Given the description of an element on the screen output the (x, y) to click on. 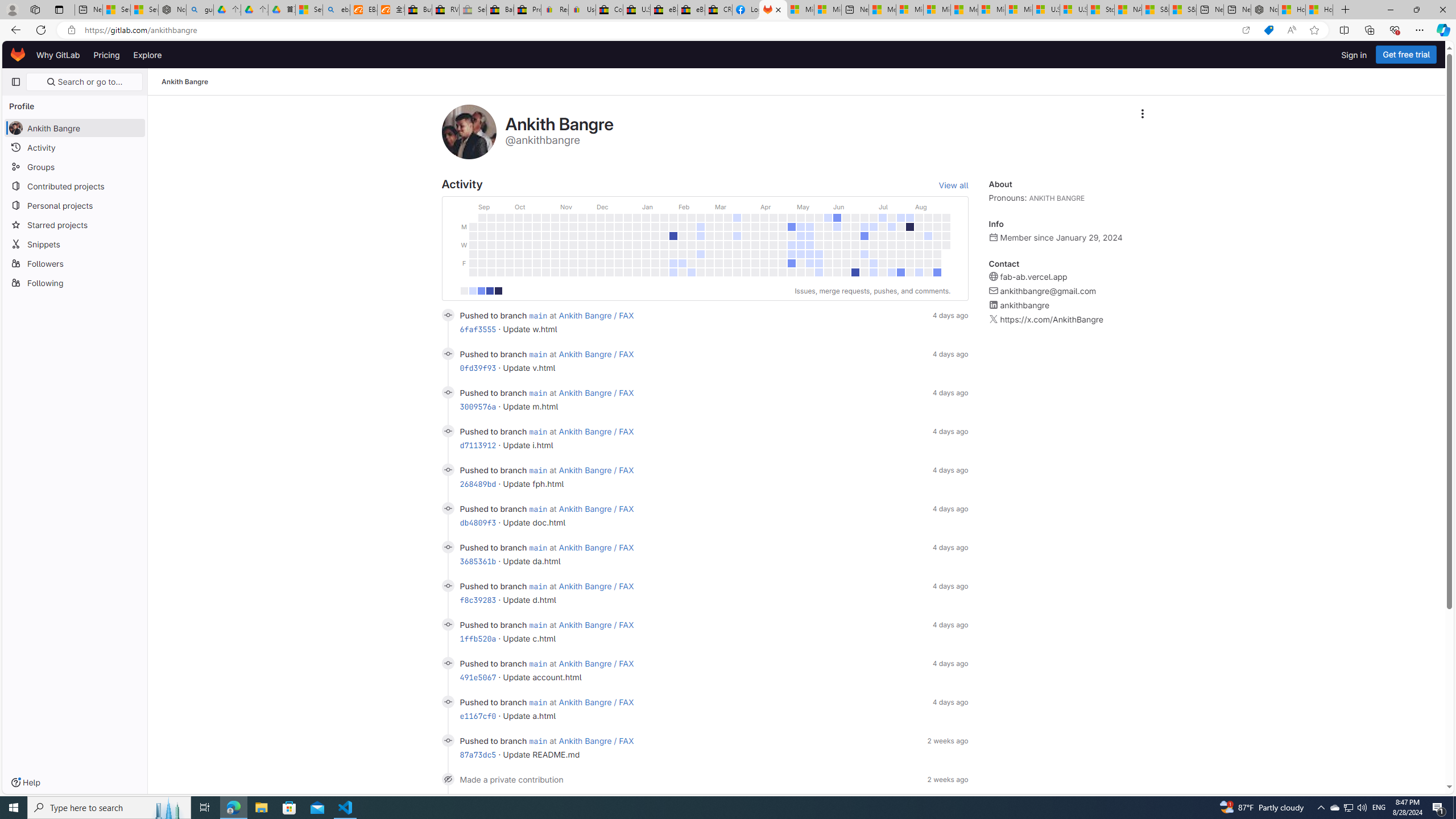
AutomationID: dropdown-toggle-btn-16 (1141, 113)
db4809f3 (478, 522)
guge yunpan - Search (200, 9)
Why GitLab (58, 54)
